Given the description of an element on the screen output the (x, y) to click on. 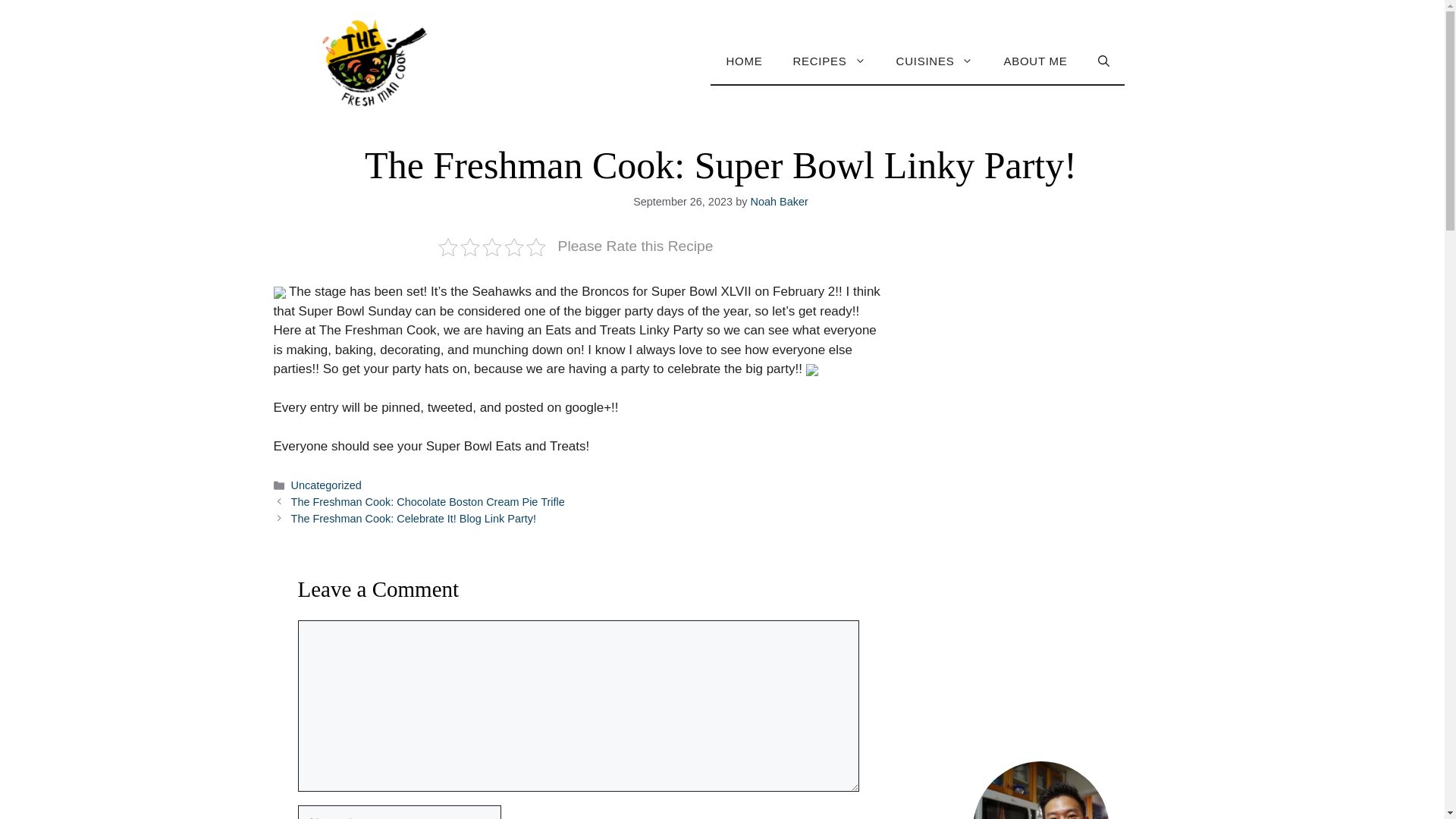
ABOUT ME (1034, 61)
The Freshman Cook: Chocolate Boston Cream Pie Trifle (427, 501)
HOME (743, 61)
View all posts by Noah Baker (779, 201)
Uncategorized (326, 485)
RECIPES (828, 61)
CUISINES (934, 61)
Noah Baker (779, 201)
